Given the description of an element on the screen output the (x, y) to click on. 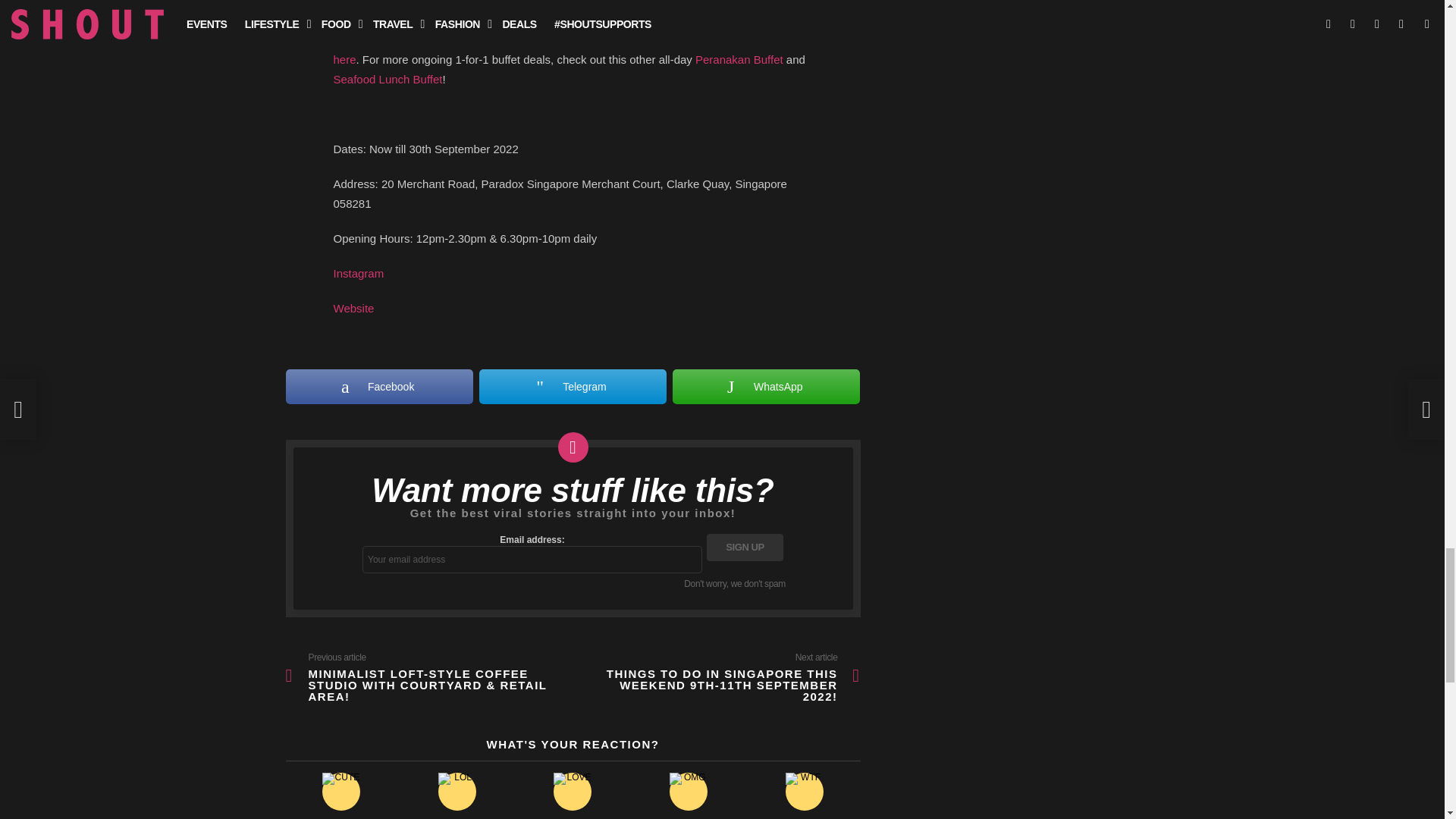
Sign up (744, 547)
here (344, 59)
Share on WhatsApp (766, 386)
Share on Facebook (378, 386)
Share on Telegram (572, 386)
